Given the description of an element on the screen output the (x, y) to click on. 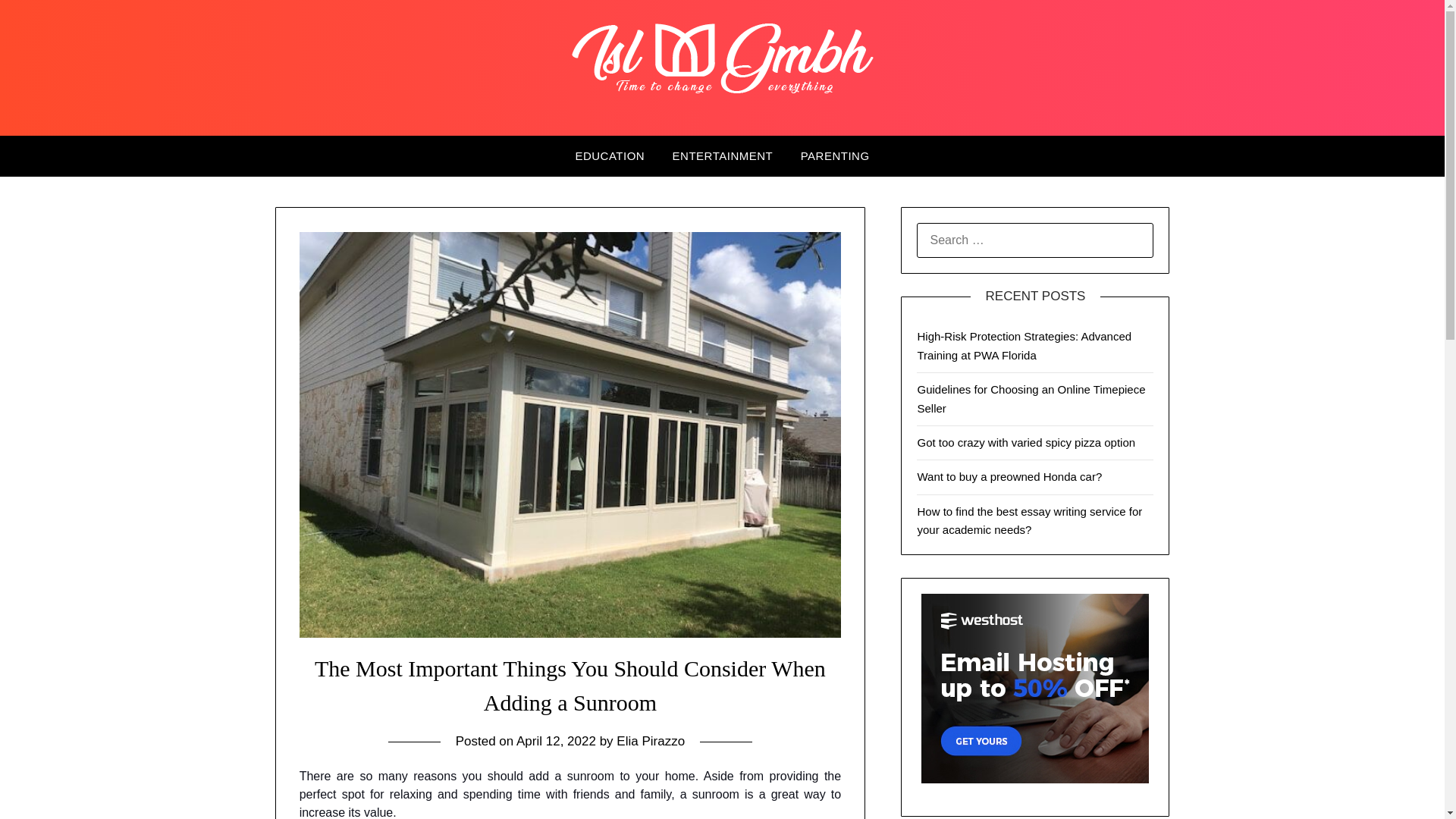
Elia Pirazzo (649, 740)
PARENTING (835, 155)
April 12, 2022 (555, 740)
EDUCATION (609, 155)
Got too crazy with varied spicy pizza option (1026, 441)
Guidelines for Choosing an Online Timepiece Seller (1030, 398)
Search (38, 22)
ENTERTAINMENT (723, 155)
